Given the description of an element on the screen output the (x, y) to click on. 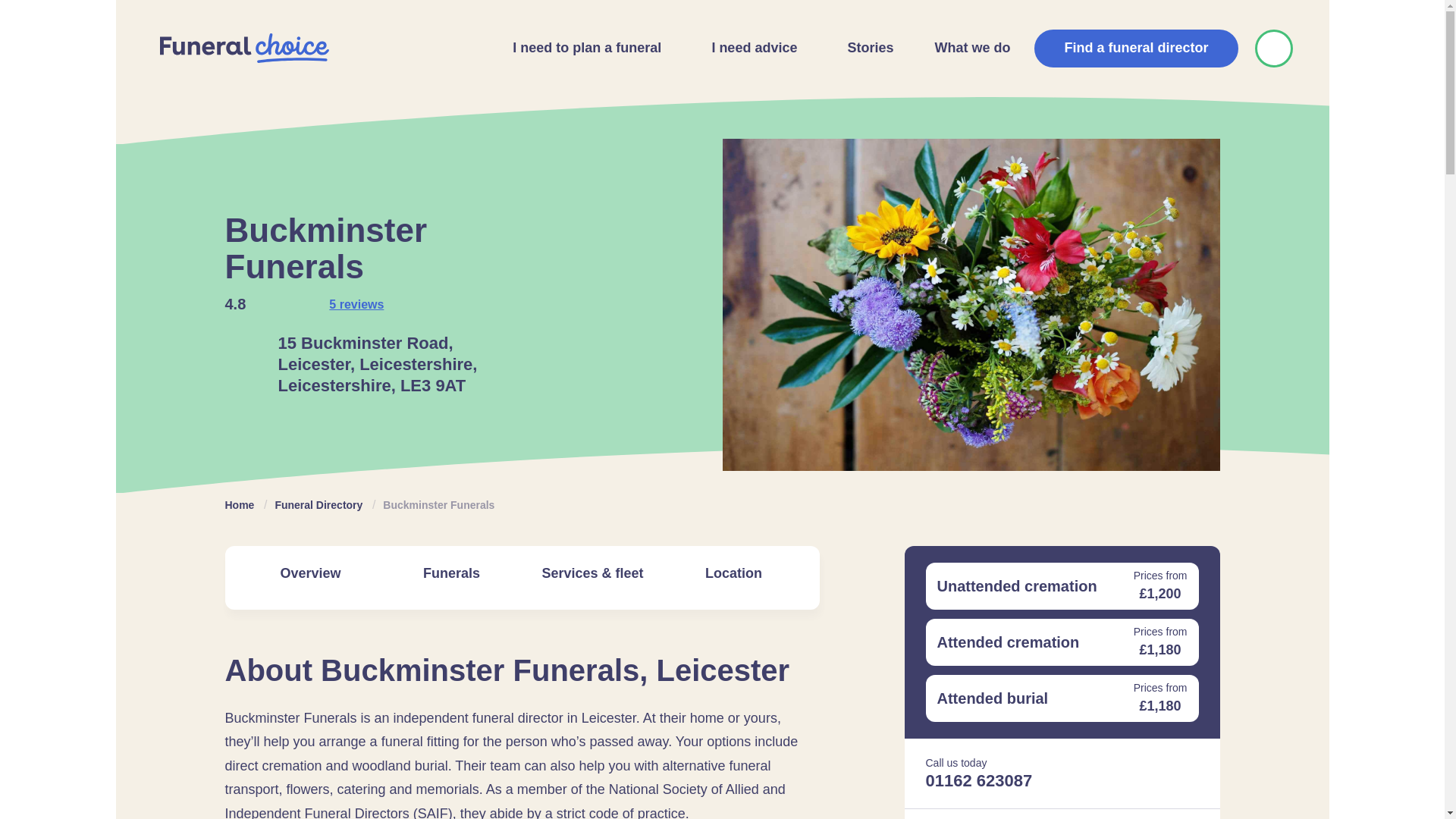
I need to plan a funeral (582, 48)
Shortlist (1272, 48)
What we do (967, 48)
Find a funeral director (1135, 48)
I need advice (749, 48)
